Given the description of an element on the screen output the (x, y) to click on. 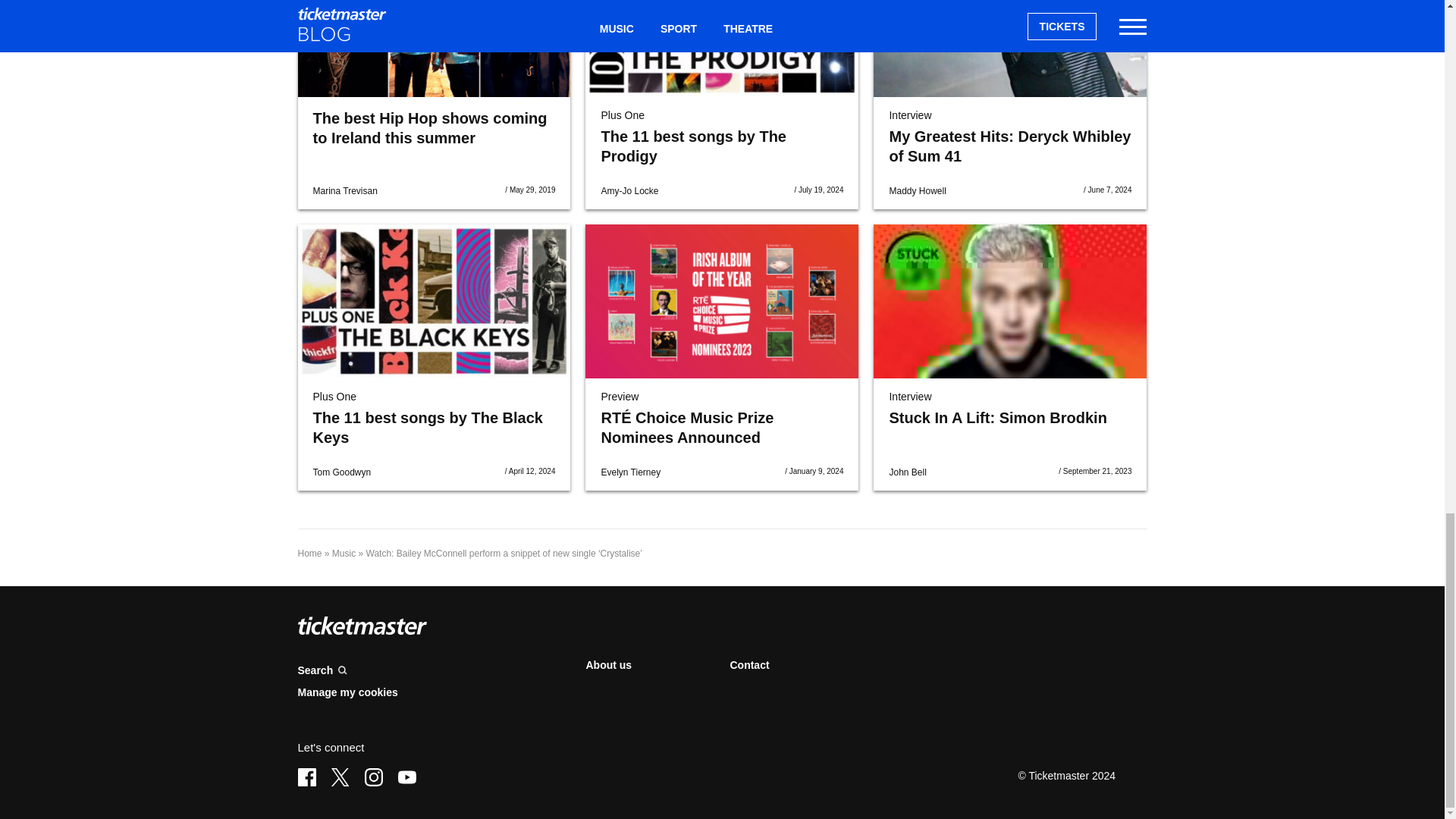
The best Hip Hop shows coming to Ireland this summer (430, 127)
My Greatest Hits: Deryck Whibley of Sum 41 (1009, 145)
Marina Trevisan (345, 190)
Youtube (405, 777)
The 11 best songs by The Black Keys (433, 300)
The 11 best songs by The Prodigy (722, 48)
The 11 best songs by The Black Keys (427, 427)
Tom Goodwyn (342, 471)
Home (309, 552)
John Bell (907, 471)
